Given the description of an element on the screen output the (x, y) to click on. 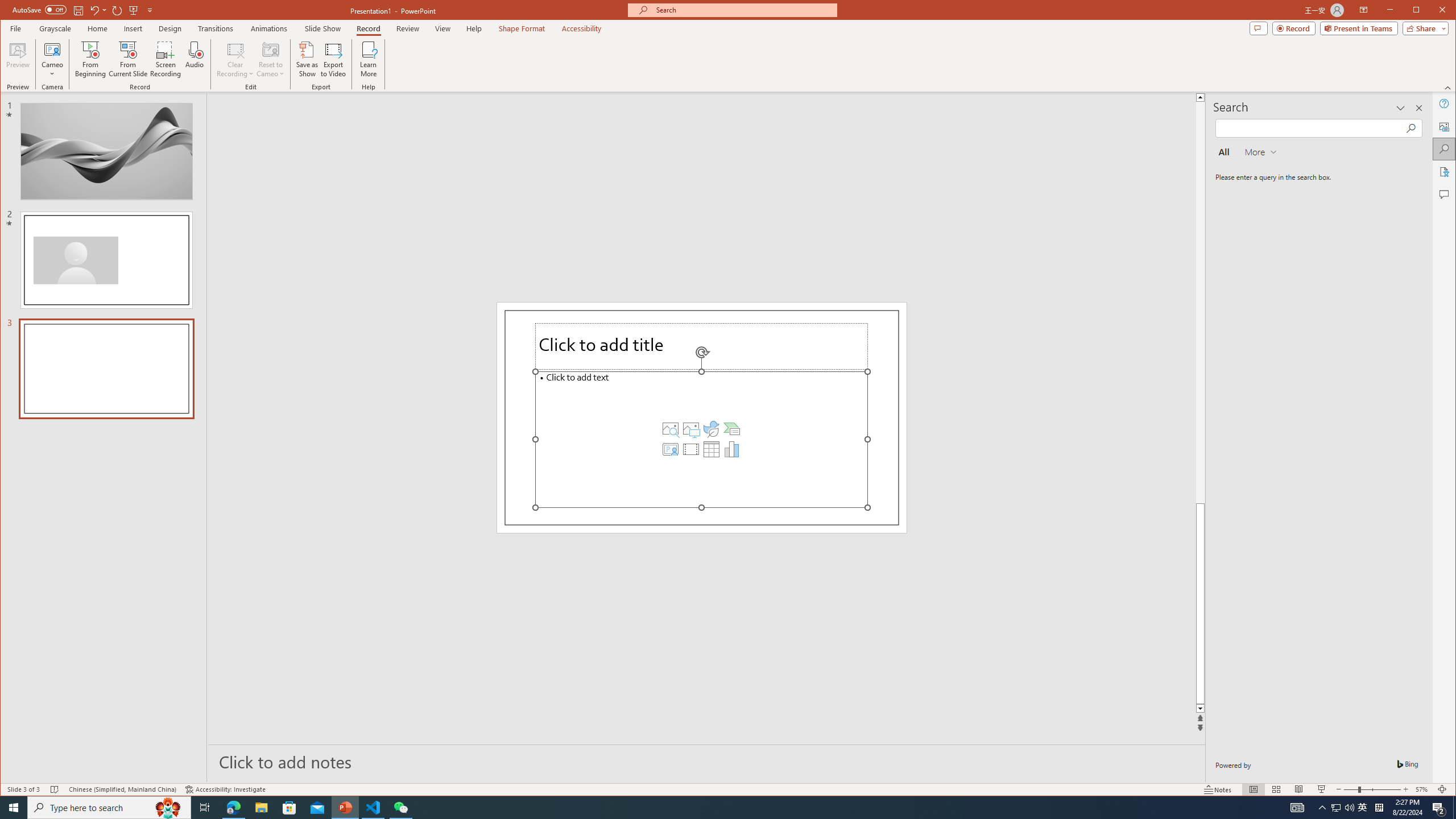
Insert Cameo (670, 449)
Content Placeholder (701, 438)
Grayscale (55, 28)
